Given the description of an element on the screen output the (x, y) to click on. 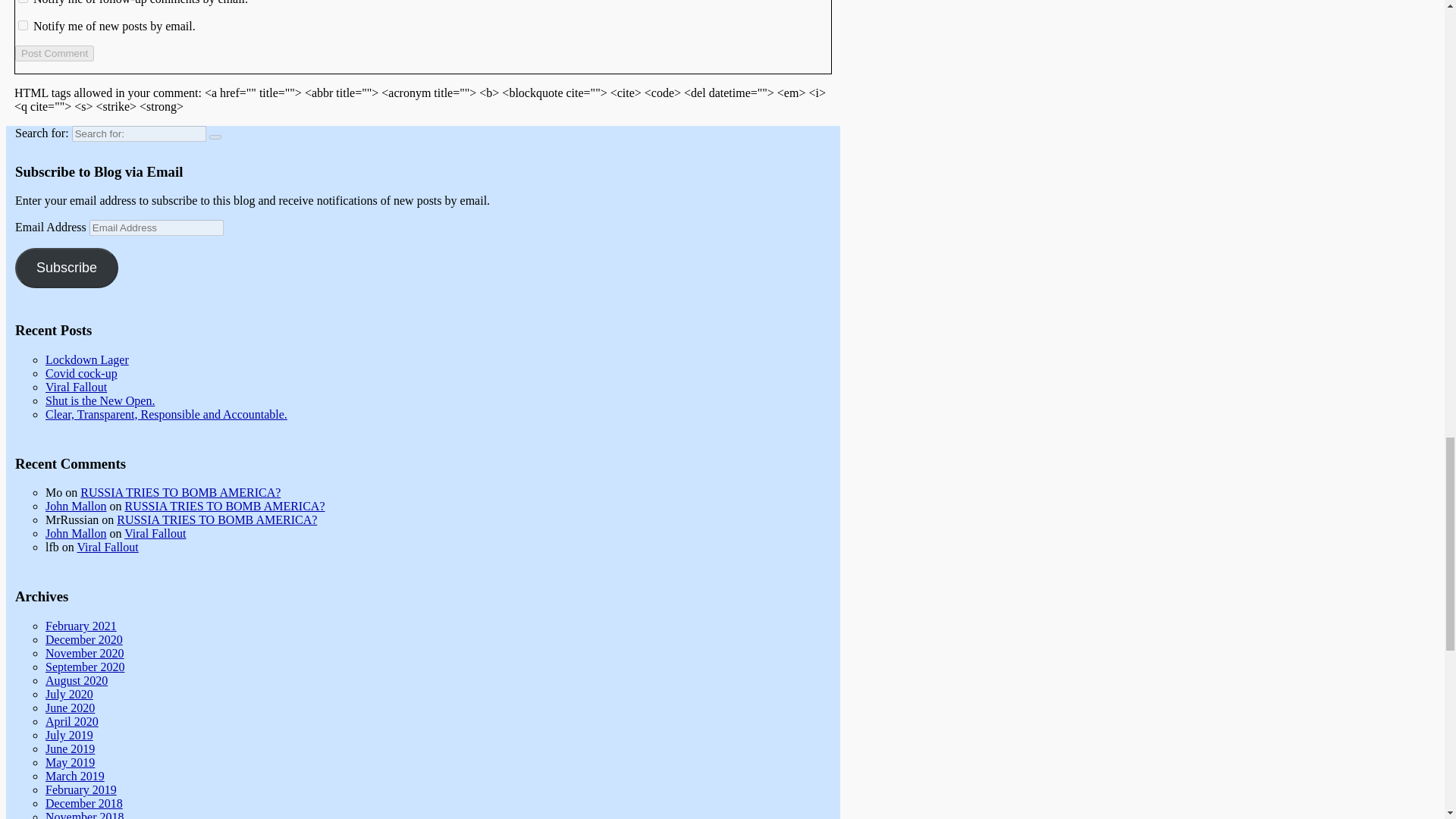
Shut is the New Open. (99, 400)
Viral Fallout (75, 386)
Viral Fallout (107, 546)
Clear, Transparent, Responsible and Accountable. (165, 413)
Covid cock-up (81, 373)
John Mallon (75, 505)
RUSSIA TRIES TO BOMB AMERICA? (216, 519)
John Mallon (75, 533)
subscribe (22, 1)
Lockdown Lager (87, 359)
